Given the description of an element on the screen output the (x, y) to click on. 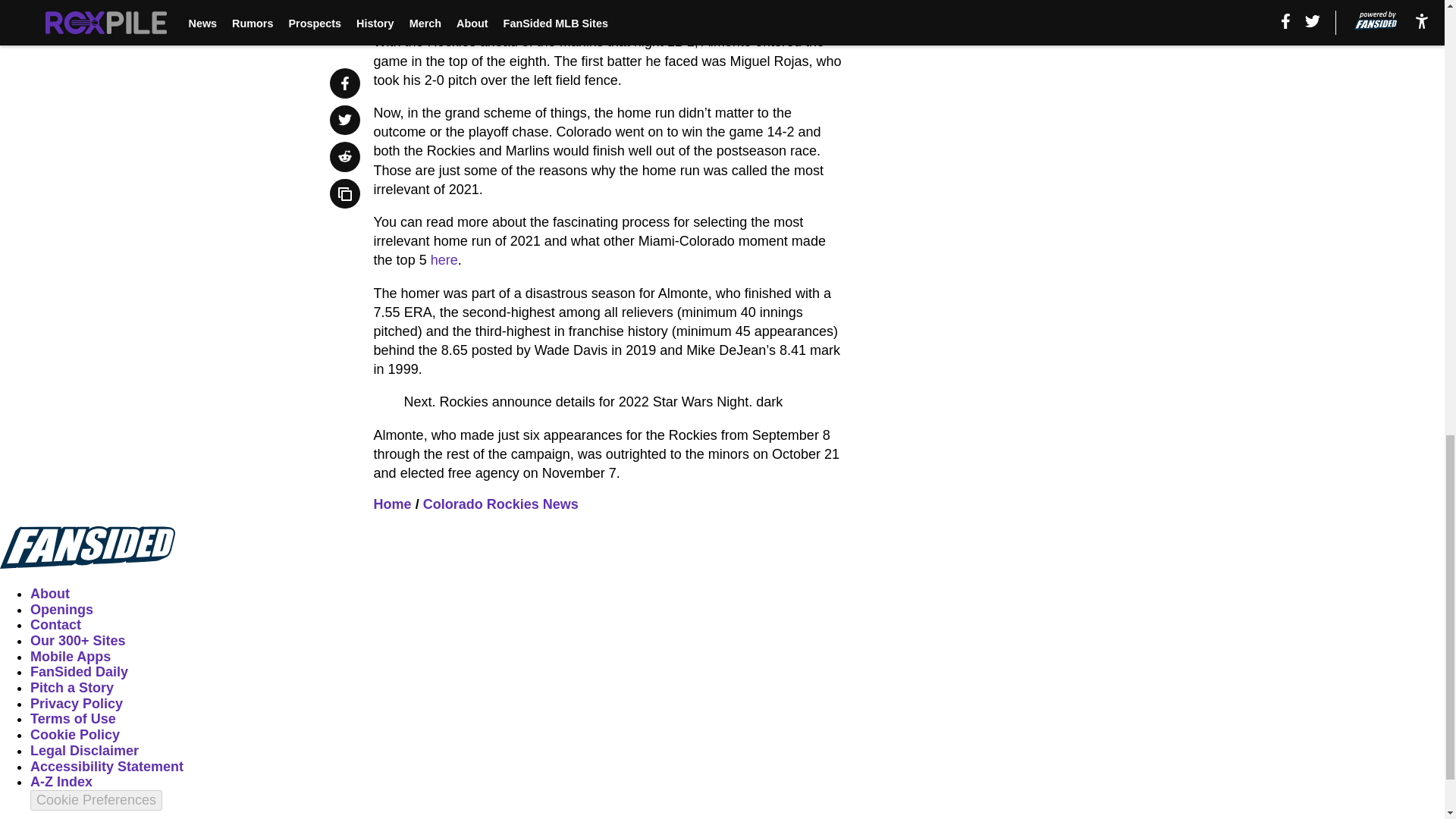
Colorado Rockies News (500, 503)
Openings (61, 609)
Contact (55, 624)
Home (393, 503)
Mobile Apps (70, 656)
here (444, 259)
About (49, 593)
